Given the description of an element on the screen output the (x, y) to click on. 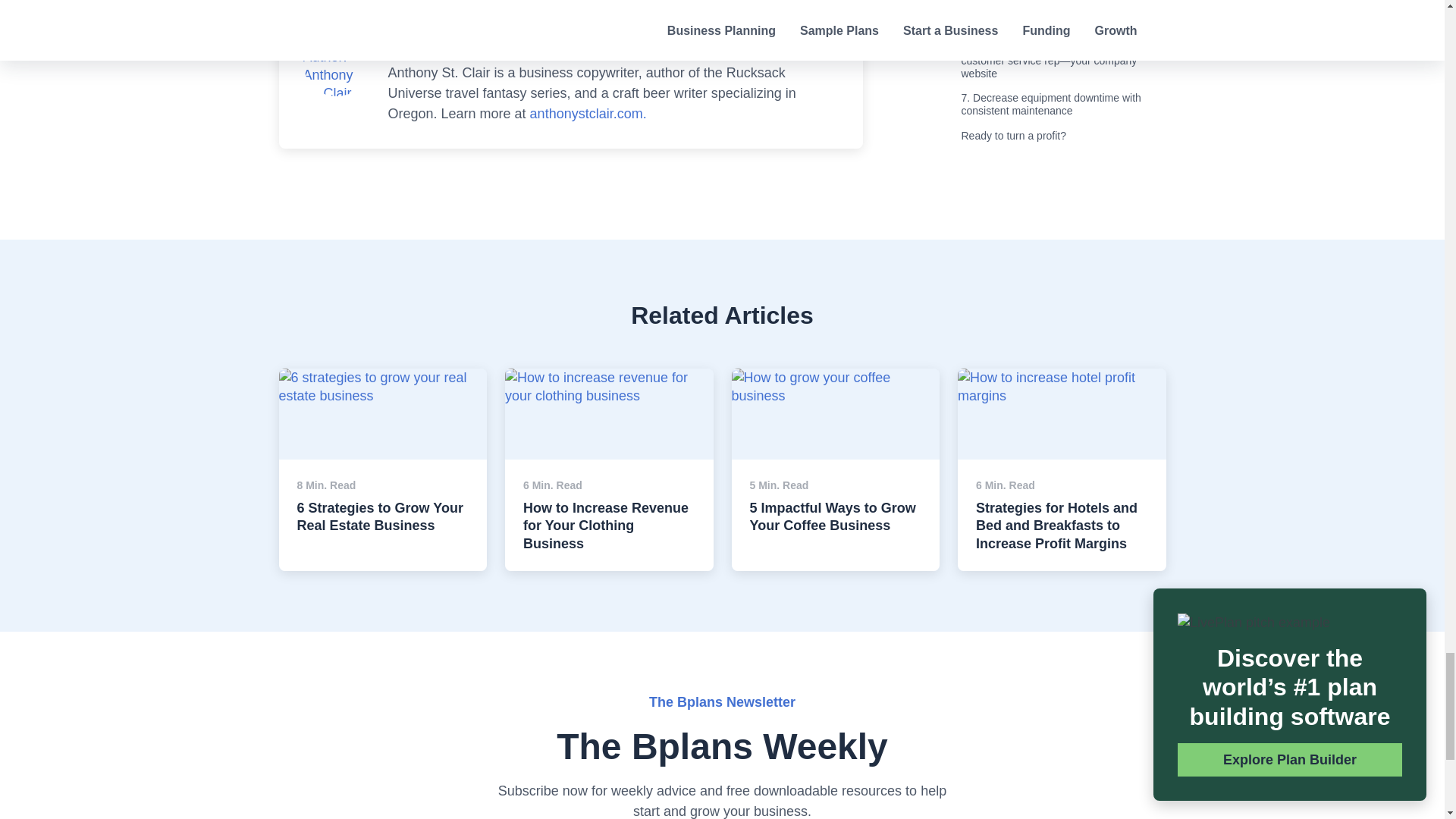
6 strategies to grow your real estate business (383, 386)
Content Author: Anthony St. Clair (335, 65)
How to grow your coffee business (834, 386)
How to increase revenue for your clothing business (609, 386)
How to increase hotel profit margins (1062, 386)
